Given the description of an element on the screen output the (x, y) to click on. 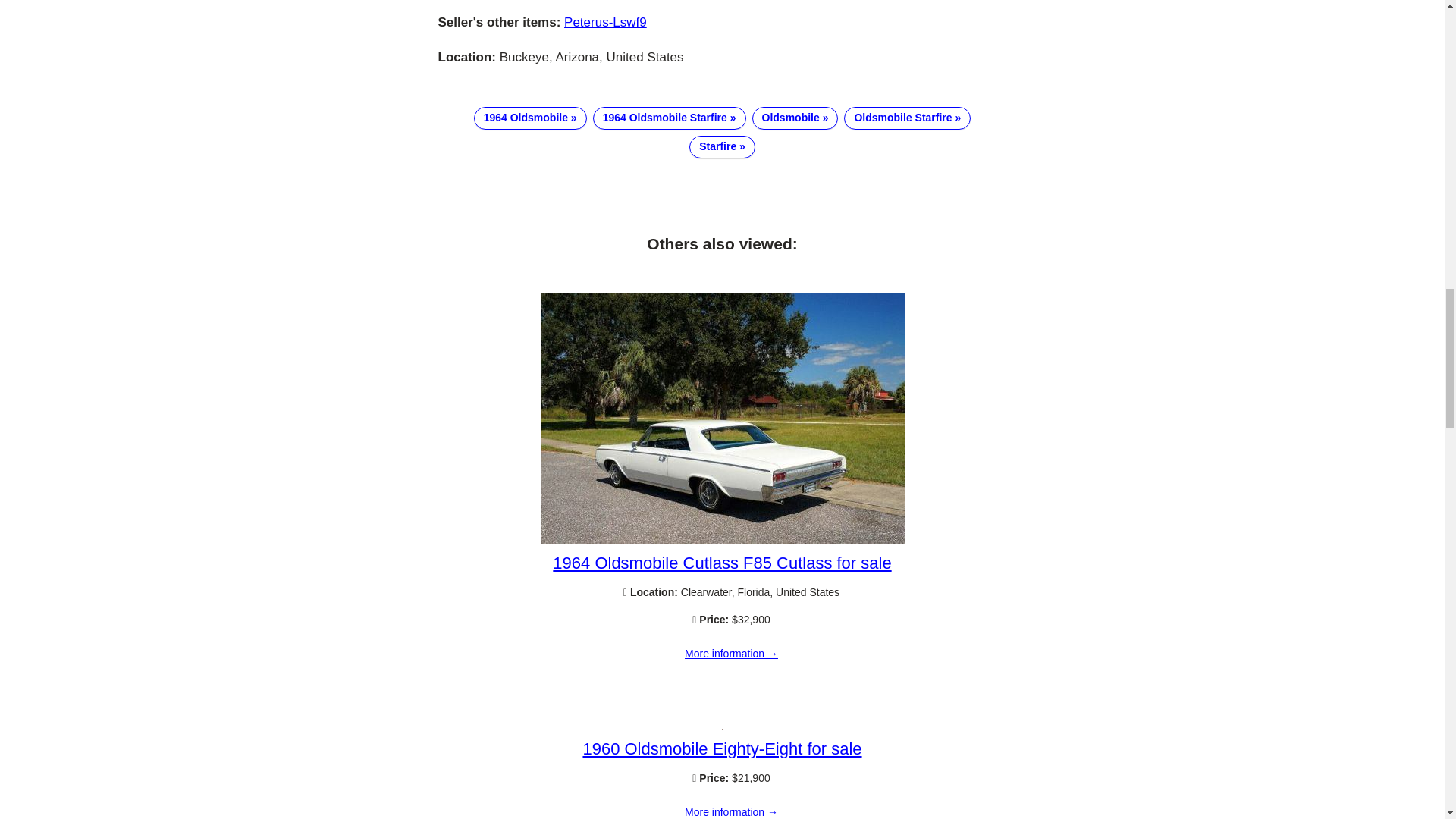
1960 Oldsmobile Eighty-Eight for sale (731, 808)
1964 Oldsmobile Cutlass F85 Cutlass for sale (722, 539)
1964 Oldsmobile Cutlass F85 Cutlass for sale (731, 654)
Starfire (721, 146)
1964 Oldsmobile Starfire (668, 118)
Oldsmobile (795, 118)
Peterus-Lswf9 (605, 22)
1964 Oldsmobile Cutlass F85 Cutlass for sale (722, 562)
1960 Oldsmobile Eighty-Eight for sale (721, 748)
Oldsmobile Starfire (907, 118)
1964 Oldsmobile (530, 118)
